Given the description of an element on the screen output the (x, y) to click on. 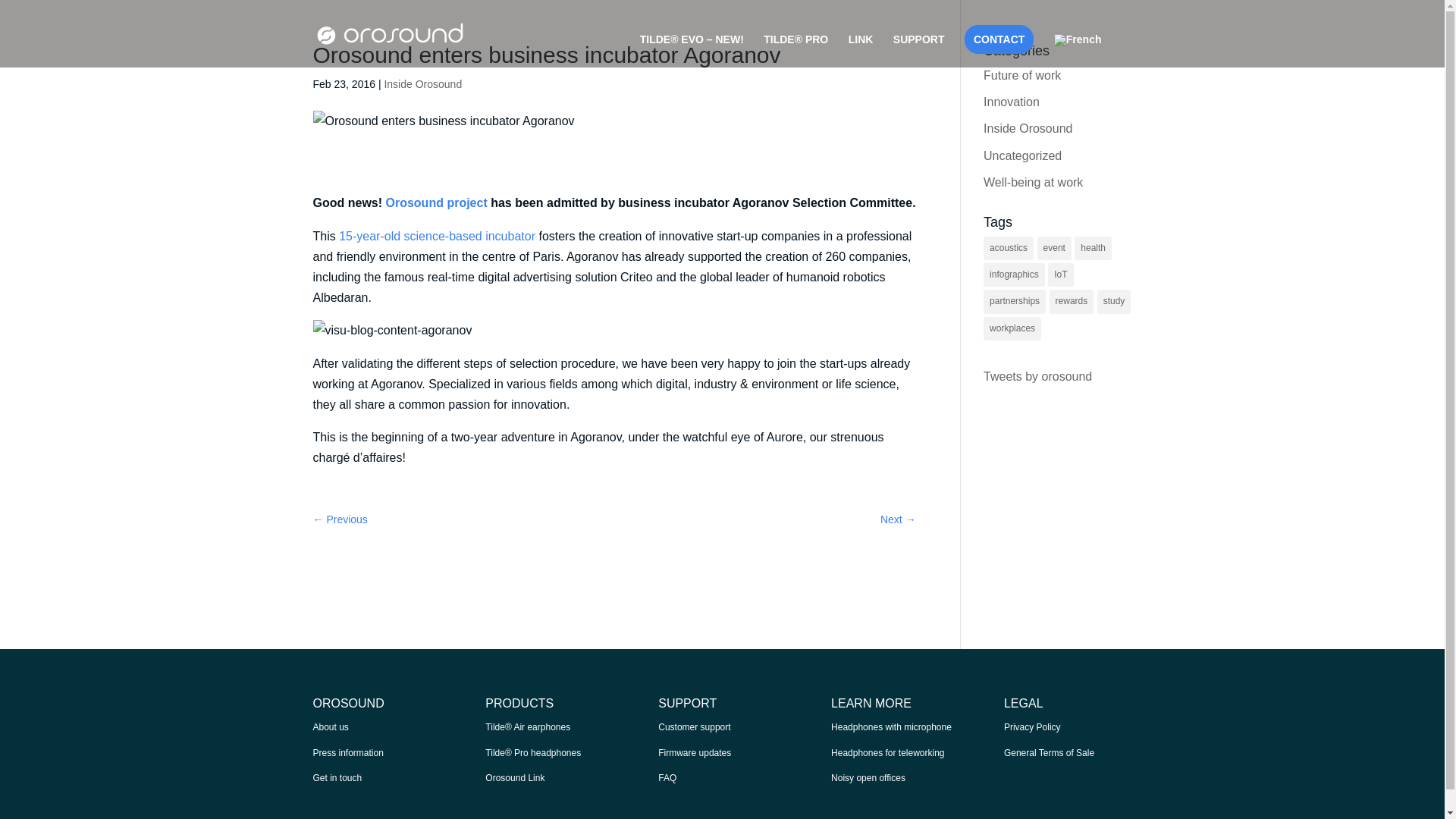
Inside Orosound (422, 83)
Customer support (694, 726)
Orosound project (435, 202)
CONTACT (998, 39)
Get in touch (337, 777)
partnerships (1014, 300)
Well-being at work (1033, 182)
acoustics (1008, 248)
study (1114, 300)
rewards (1071, 300)
